Given the description of an element on the screen output the (x, y) to click on. 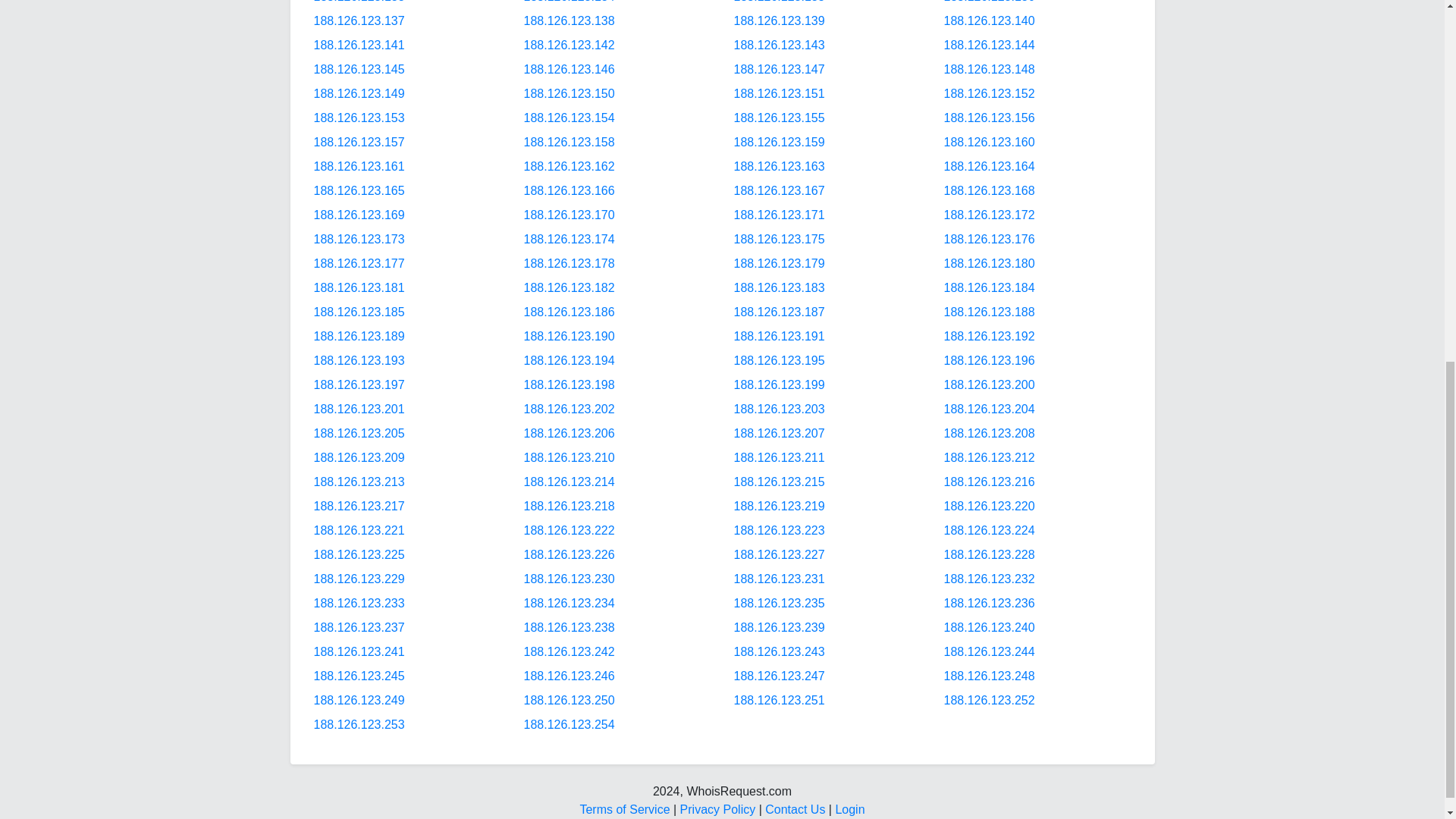
188.126.123.149 (359, 92)
188.126.123.139 (779, 20)
188.126.123.146 (568, 69)
188.126.123.137 (359, 20)
188.126.123.143 (779, 44)
188.126.123.134 (568, 1)
188.126.123.152 (988, 92)
188.126.123.133 (359, 1)
188.126.123.151 (779, 92)
188.126.123.141 (359, 44)
188.126.123.150 (568, 92)
188.126.123.148 (988, 69)
188.126.123.142 (568, 44)
188.126.123.138 (568, 20)
188.126.123.145 (359, 69)
